Given the description of an element on the screen output the (x, y) to click on. 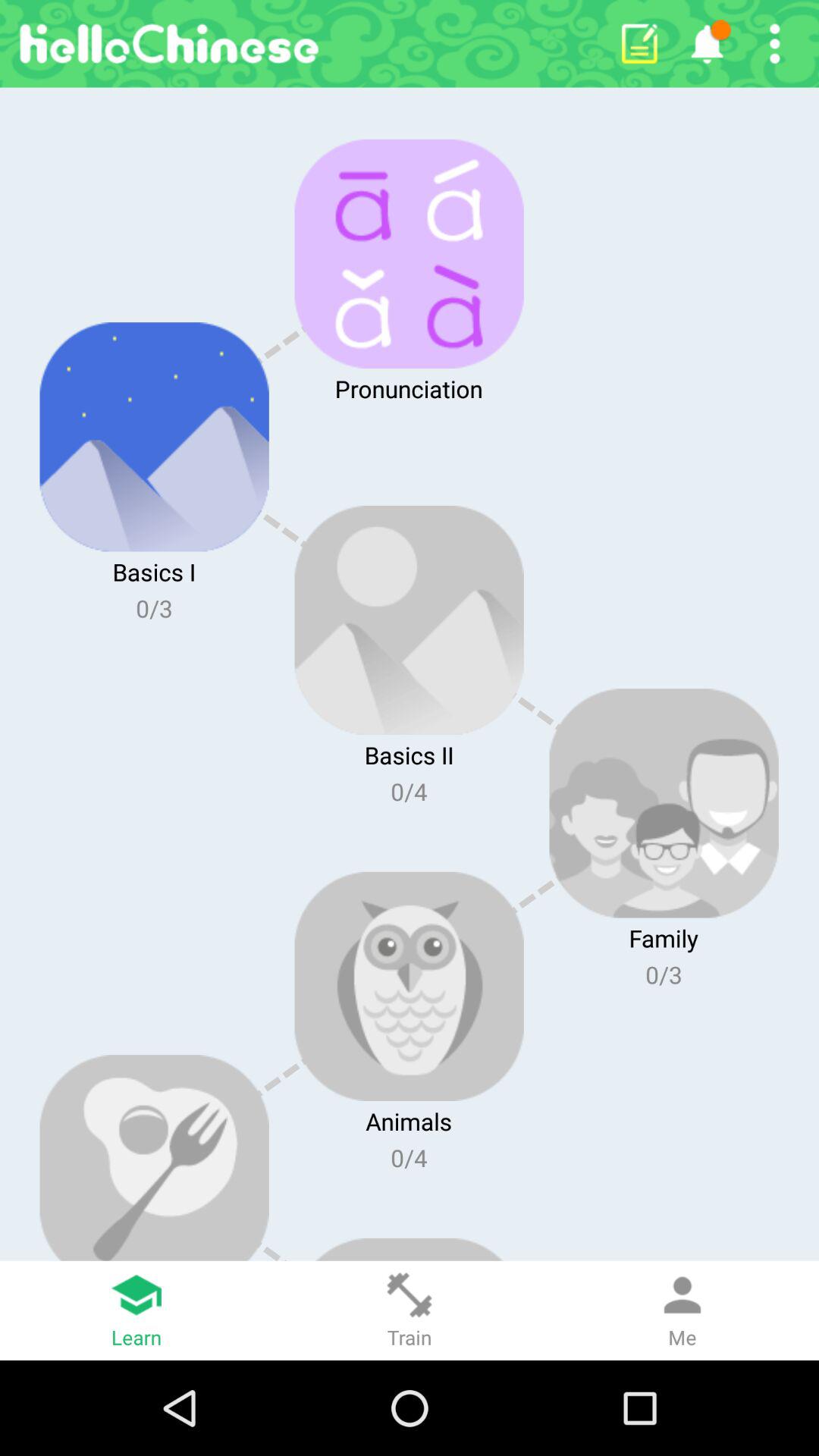
write a note (639, 43)
